Given the description of an element on the screen output the (x, y) to click on. 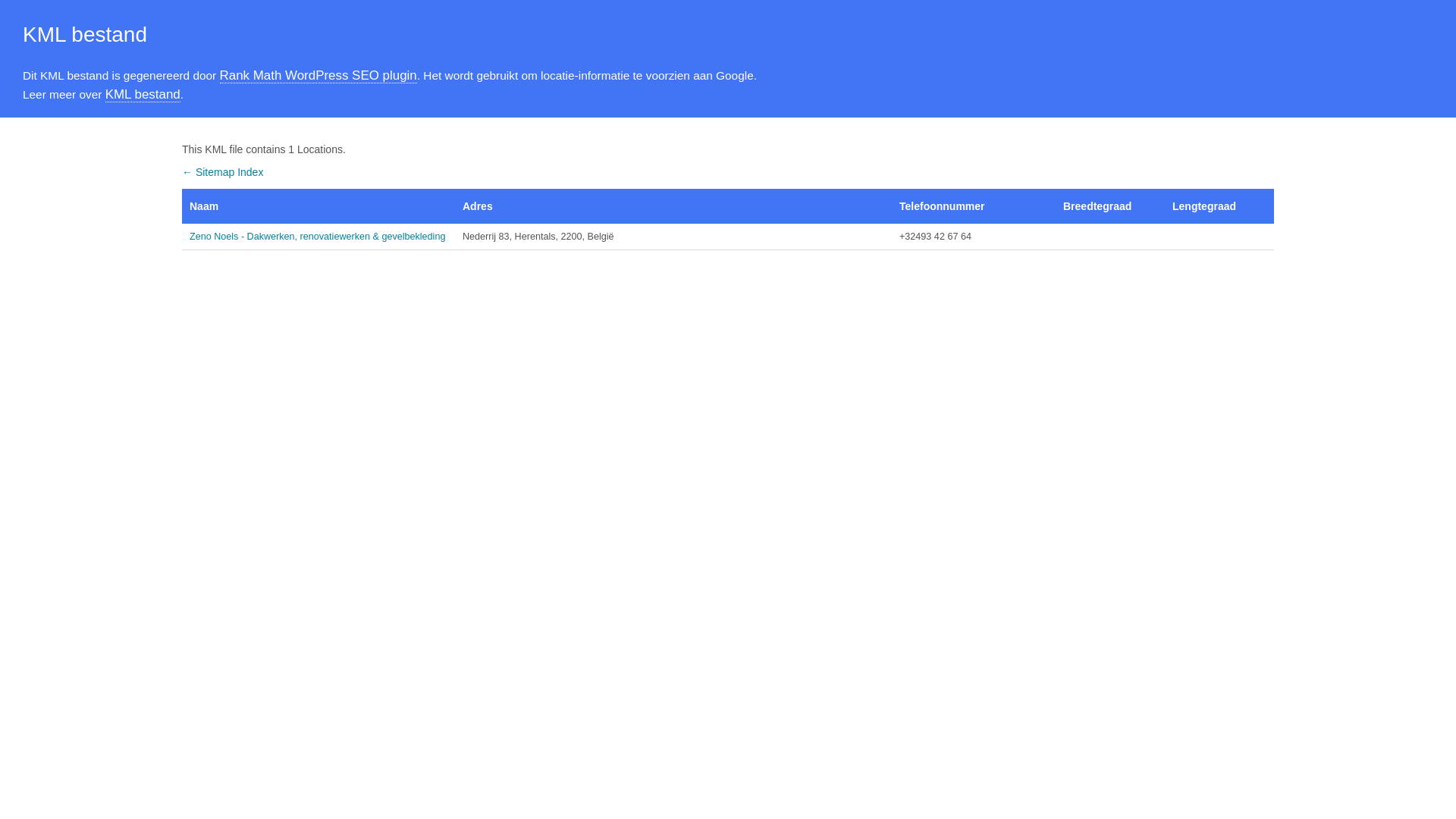
KML bestand Element type: text (142, 94)
Rank Math WordPress SEO plugin Element type: text (318, 75)
Zeno Noels - Dakwerken, renovatiewerken & gevelbekleding Element type: text (318, 236)
